Given the description of an element on the screen output the (x, y) to click on. 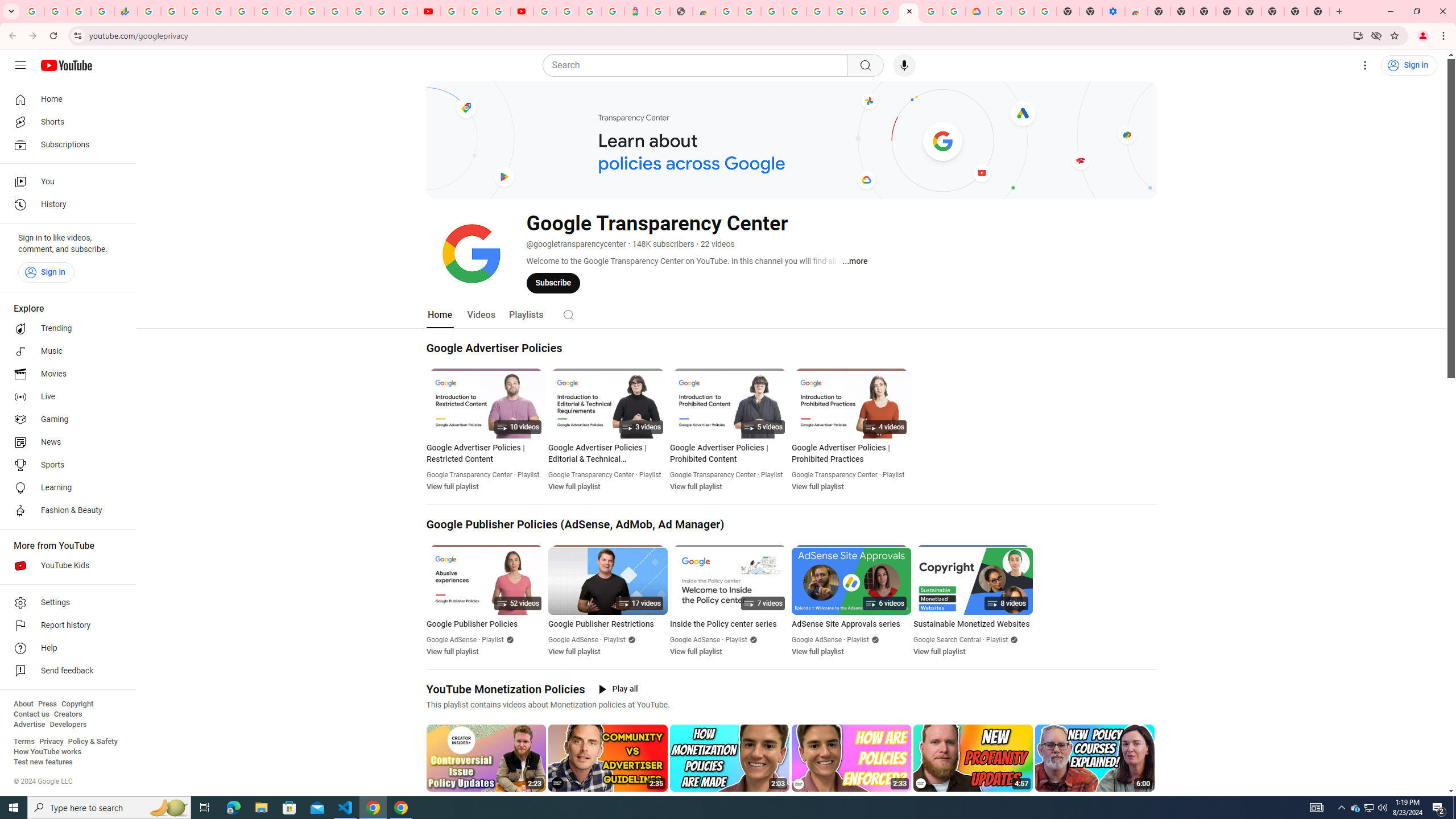
Android TV Policies and Guidelines - Transparency Center (288, 11)
Advertise (29, 724)
Turn cookies on or off - Computer - Google Account Help (1045, 11)
You (64, 181)
Sign in (45, 272)
Home (440, 314)
Test new features (42, 761)
Google Advertiser Policies (494, 347)
View full playlist (938, 651)
Inside the Policy center series (729, 624)
Android TV Policies and Guidelines - Transparency Center (885, 11)
Sign in - Google Accounts (817, 11)
